Given the description of an element on the screen output the (x, y) to click on. 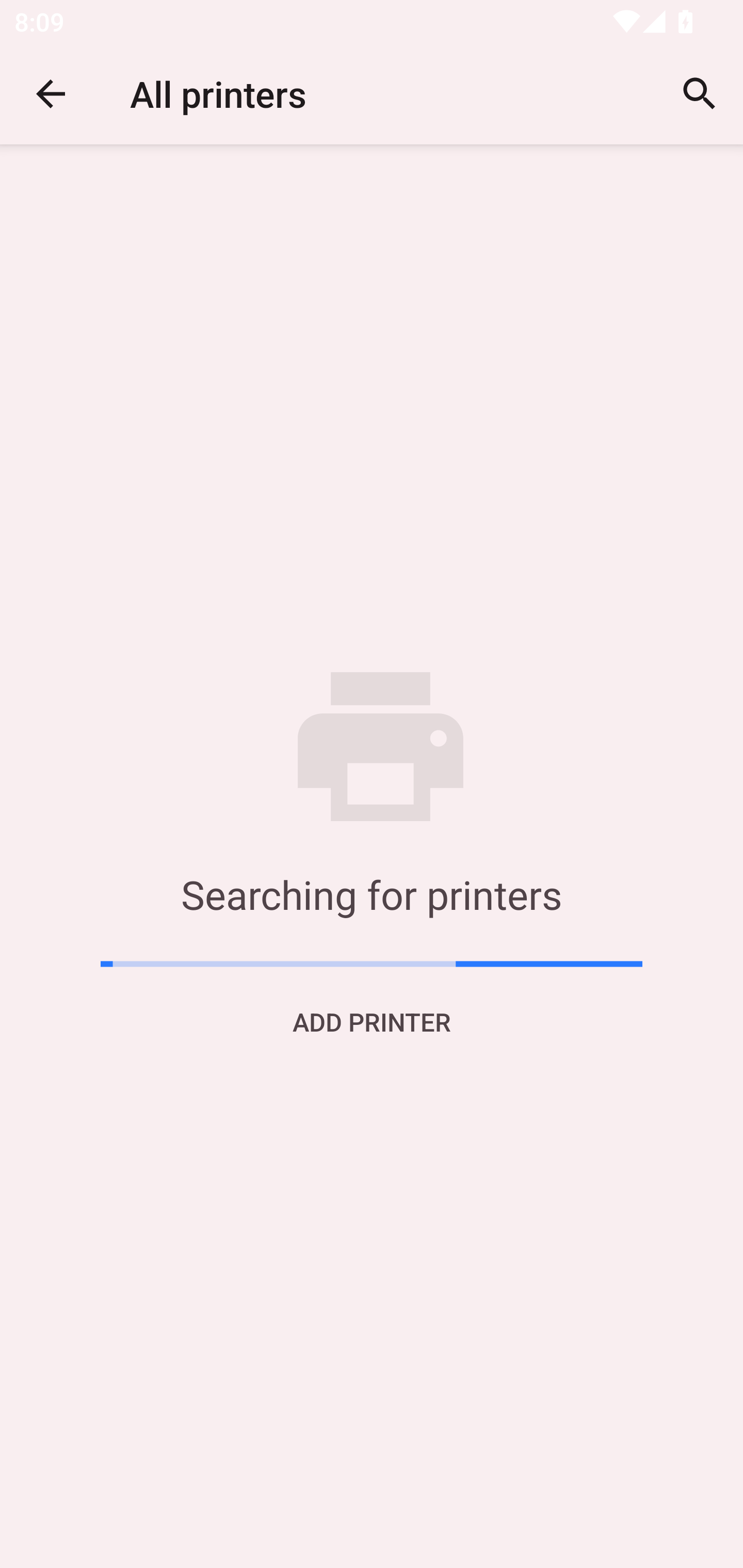
Navigate up (50, 93)
Search (699, 93)
ADD PRINTER (371, 1021)
